Given the description of an element on the screen output the (x, y) to click on. 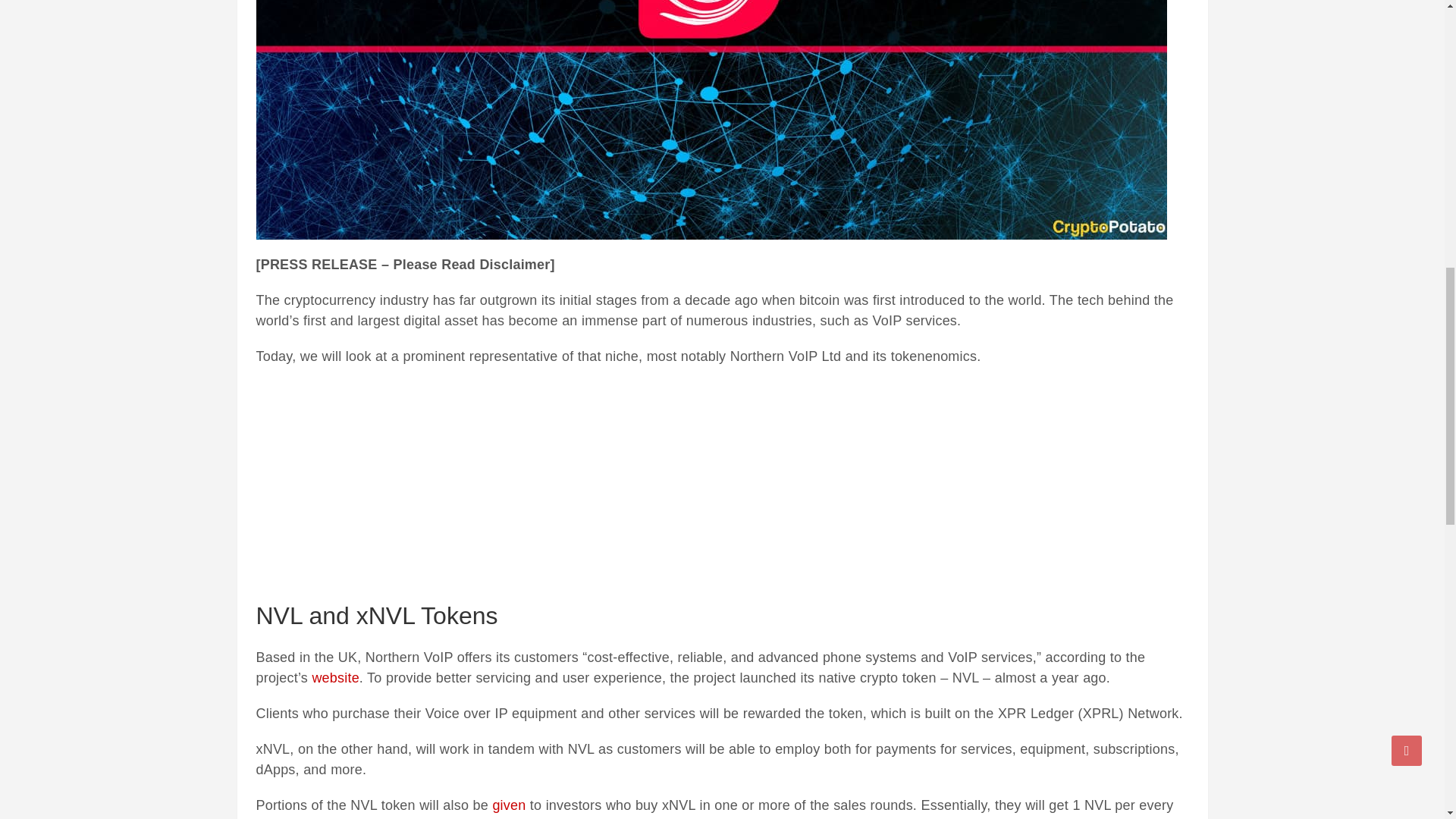
given (508, 805)
website (334, 677)
